Given the description of an element on the screen output the (x, y) to click on. 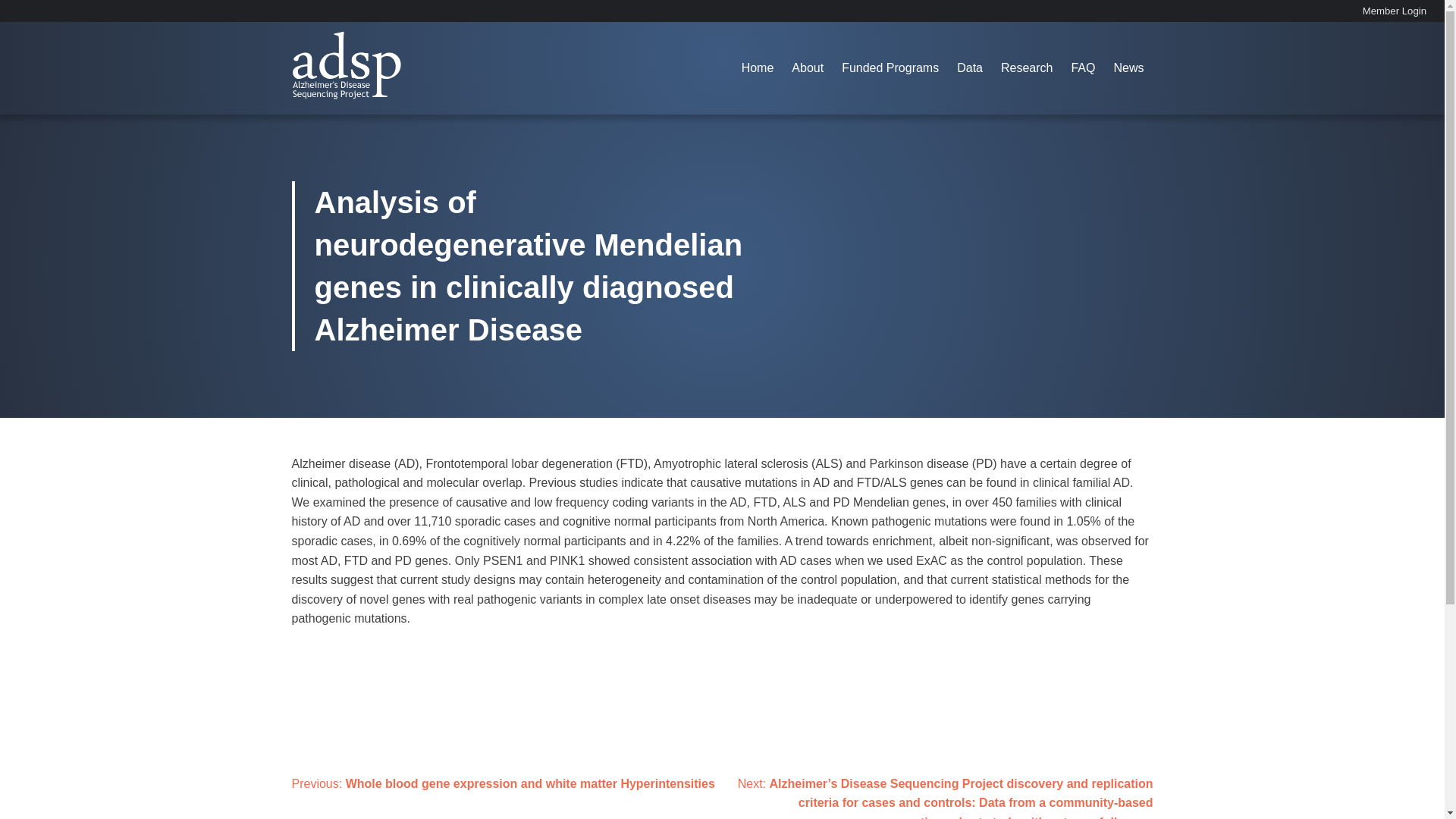
Home (757, 68)
Funded Programs (889, 68)
FAQ (1082, 68)
Research (1026, 68)
News (1128, 68)
Data (969, 68)
About (807, 68)
ADSP (307, 112)
Member Login (1394, 11)
